Given the description of an element on the screen output the (x, y) to click on. 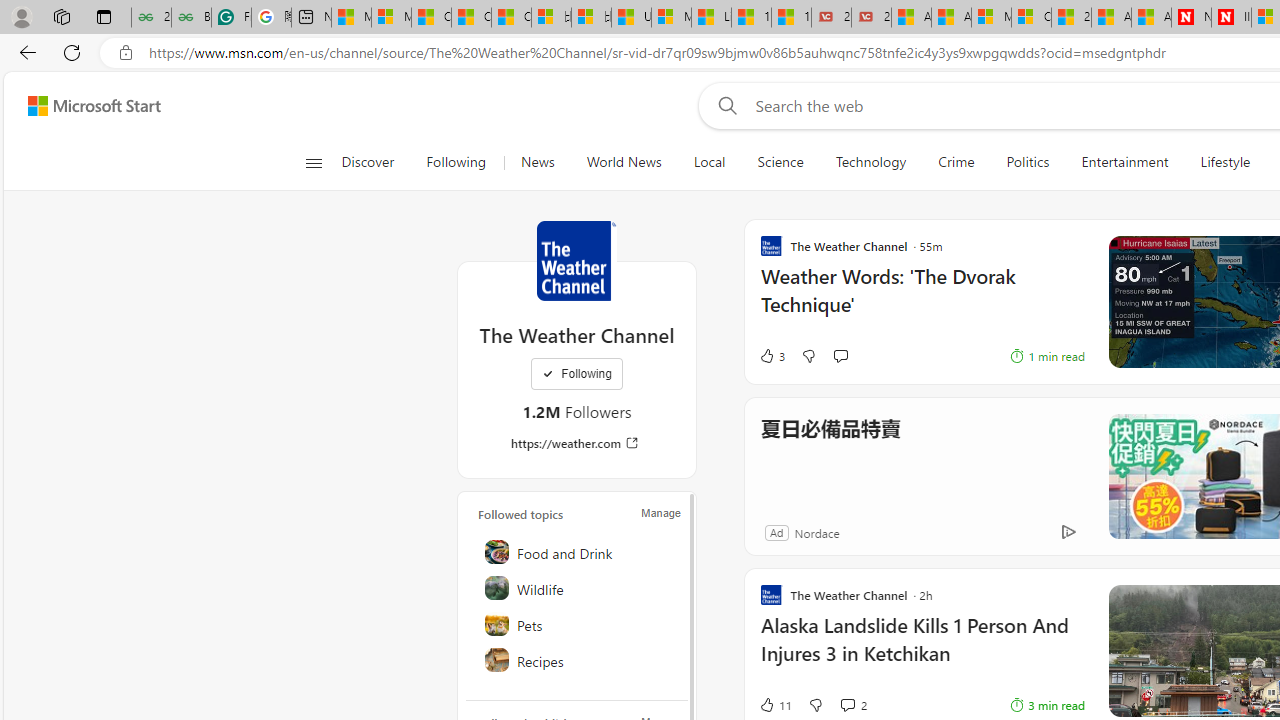
Free AI Writing Assistance for Students | Grammarly (231, 17)
https://weather.com (576, 443)
Cloud Computing Services | Microsoft Azure (1031, 17)
3 Like (771, 355)
